Given the description of an element on the screen output the (x, y) to click on. 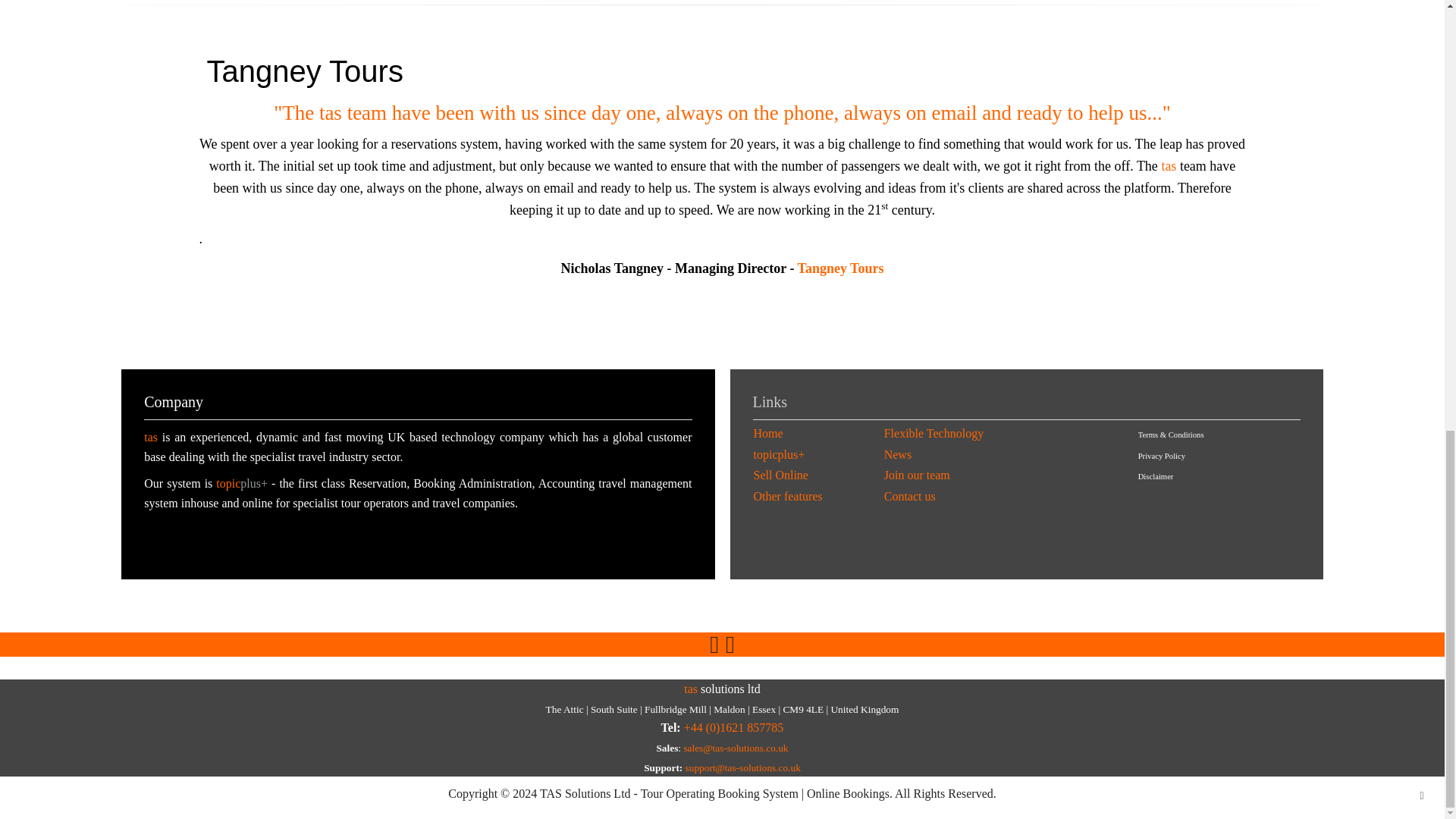
Sell Online (781, 474)
Tangney Tours (840, 268)
Home (768, 432)
News (897, 454)
Flexible Technology (933, 432)
Contact us (909, 495)
Join our team (916, 474)
Privacy Policy (1161, 456)
Disclaimer (1155, 476)
Other features (788, 495)
